Given the description of an element on the screen output the (x, y) to click on. 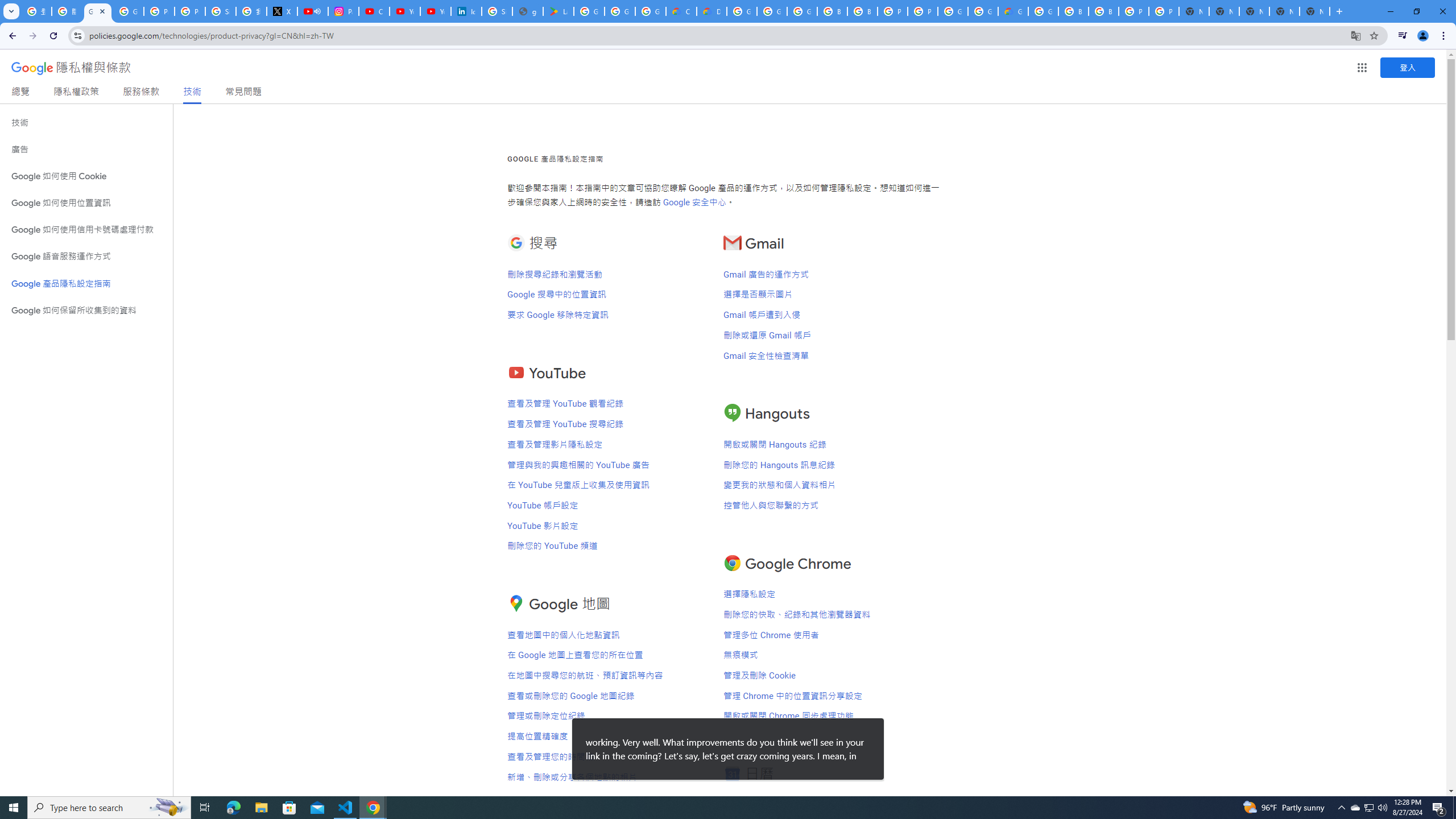
Customer Care | Google Cloud (681, 11)
Google Cloud Platform (952, 11)
Sign in - Google Accounts (496, 11)
New Tab (1314, 11)
Browse Chrome as a guest - Computer - Google Chrome Help (1103, 11)
